Given the description of an element on the screen output the (x, y) to click on. 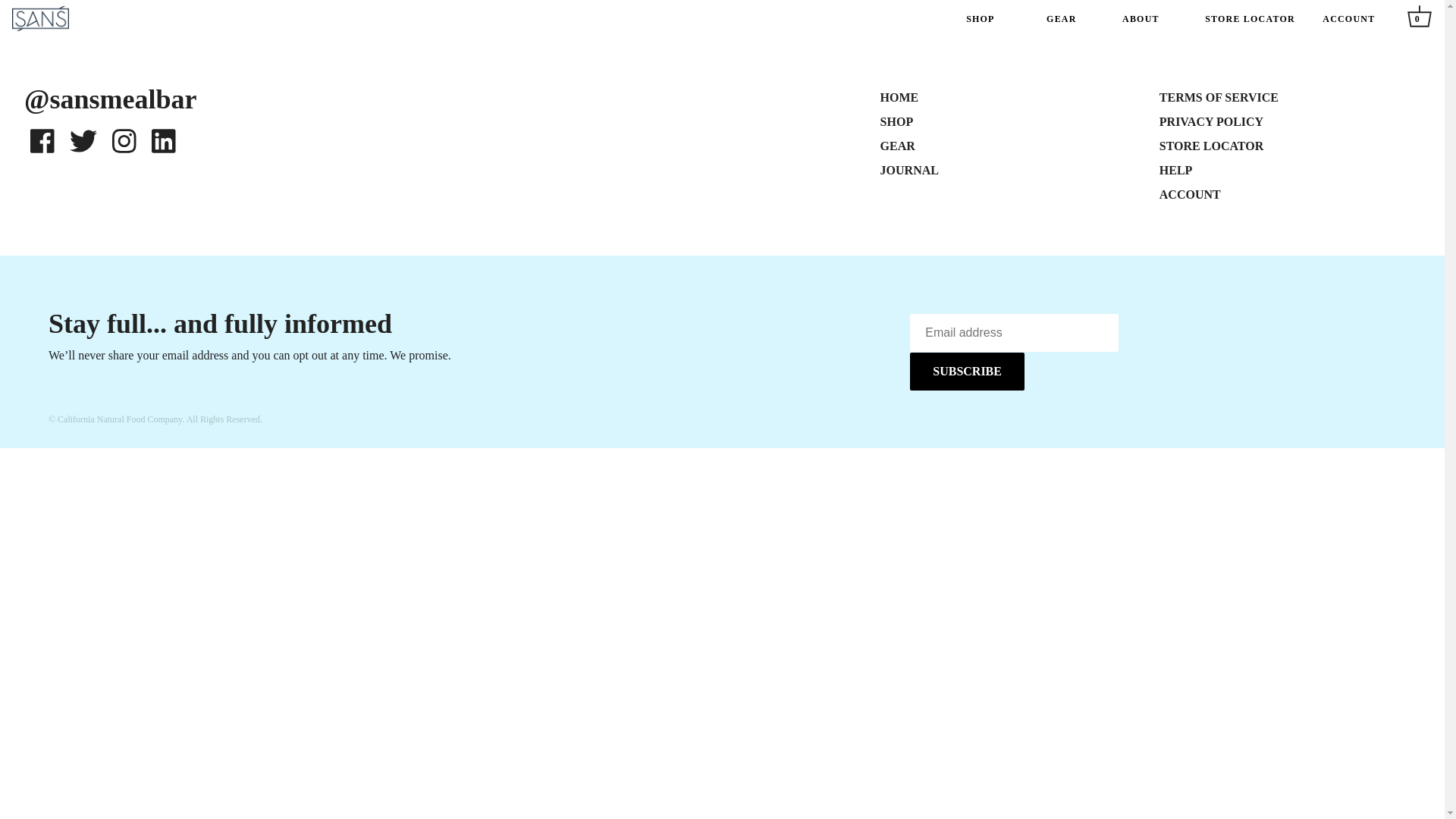
GEAR (897, 146)
STORE LOCATOR (1250, 19)
Terms (42, 142)
Terms (83, 142)
PRIVACY POLICY (1210, 121)
TERMS OF SERVICE (1218, 97)
SUBSCRIBE (967, 371)
HOME (899, 97)
ACCOUNT (1189, 194)
Home (188, 22)
